Given the description of an element on the screen output the (x, y) to click on. 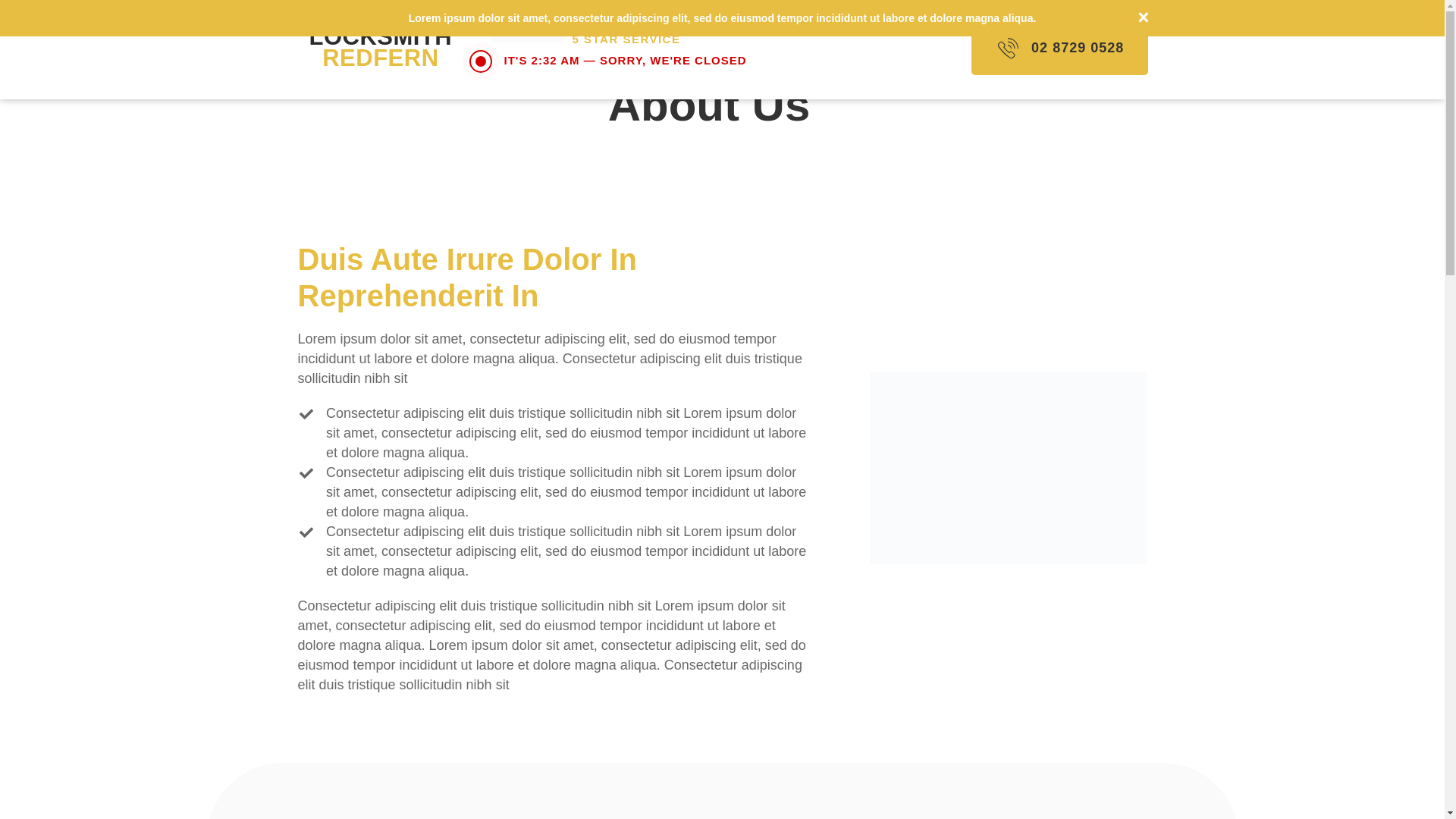
LOCKSMITH
REDFERN Element type: text (380, 47)
